Given the description of an element on the screen output the (x, y) to click on. 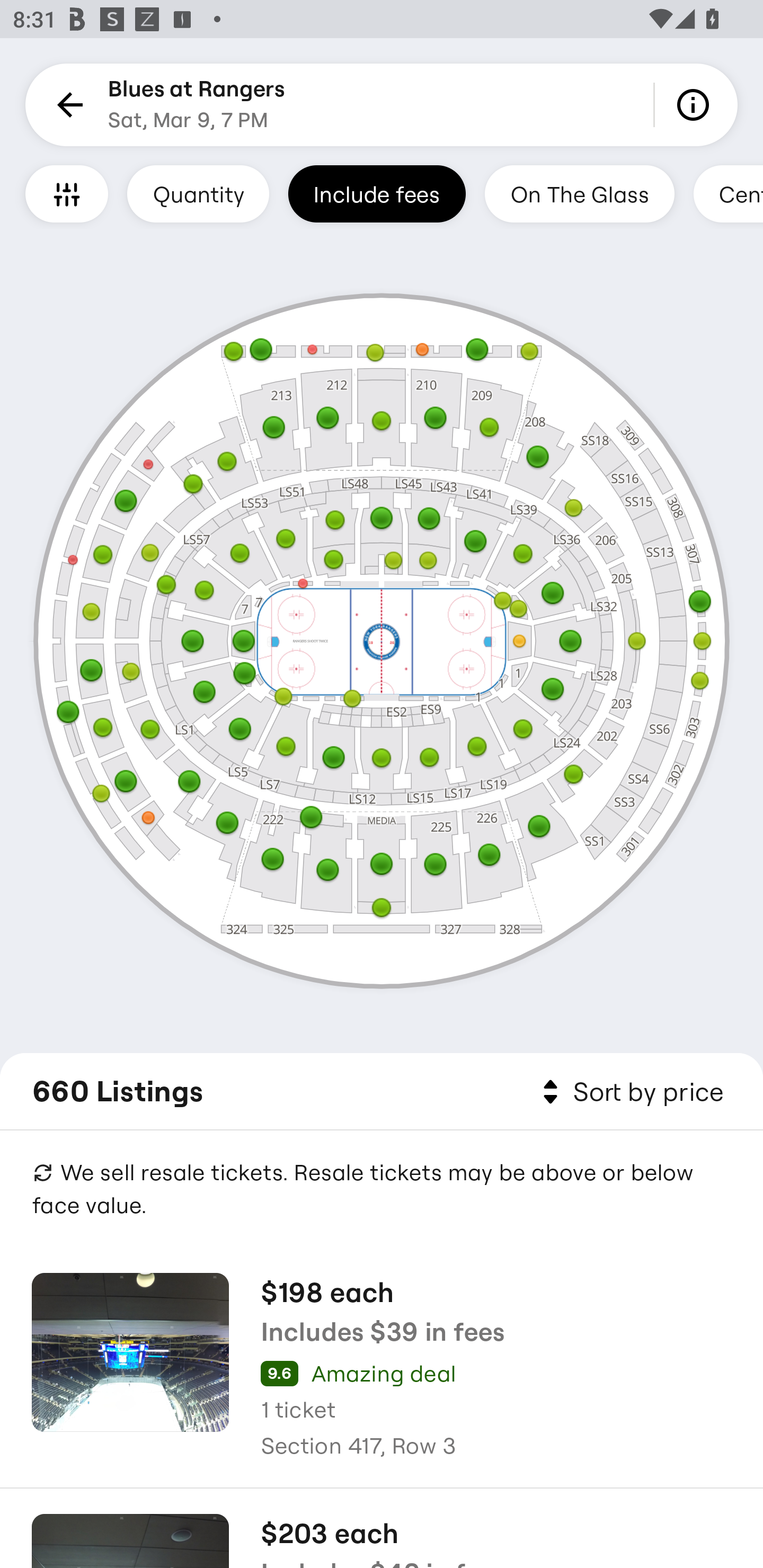
Back (66, 104)
Blues at Rangers Sat, Mar 9, 7 PM (196, 104)
Info (695, 104)
Filters and Accessible Seating (66, 193)
Quantity (198, 193)
Include fees (376, 193)
On The Glass (579, 193)
Sort by price (629, 1091)
